Given the description of an element on the screen output the (x, y) to click on. 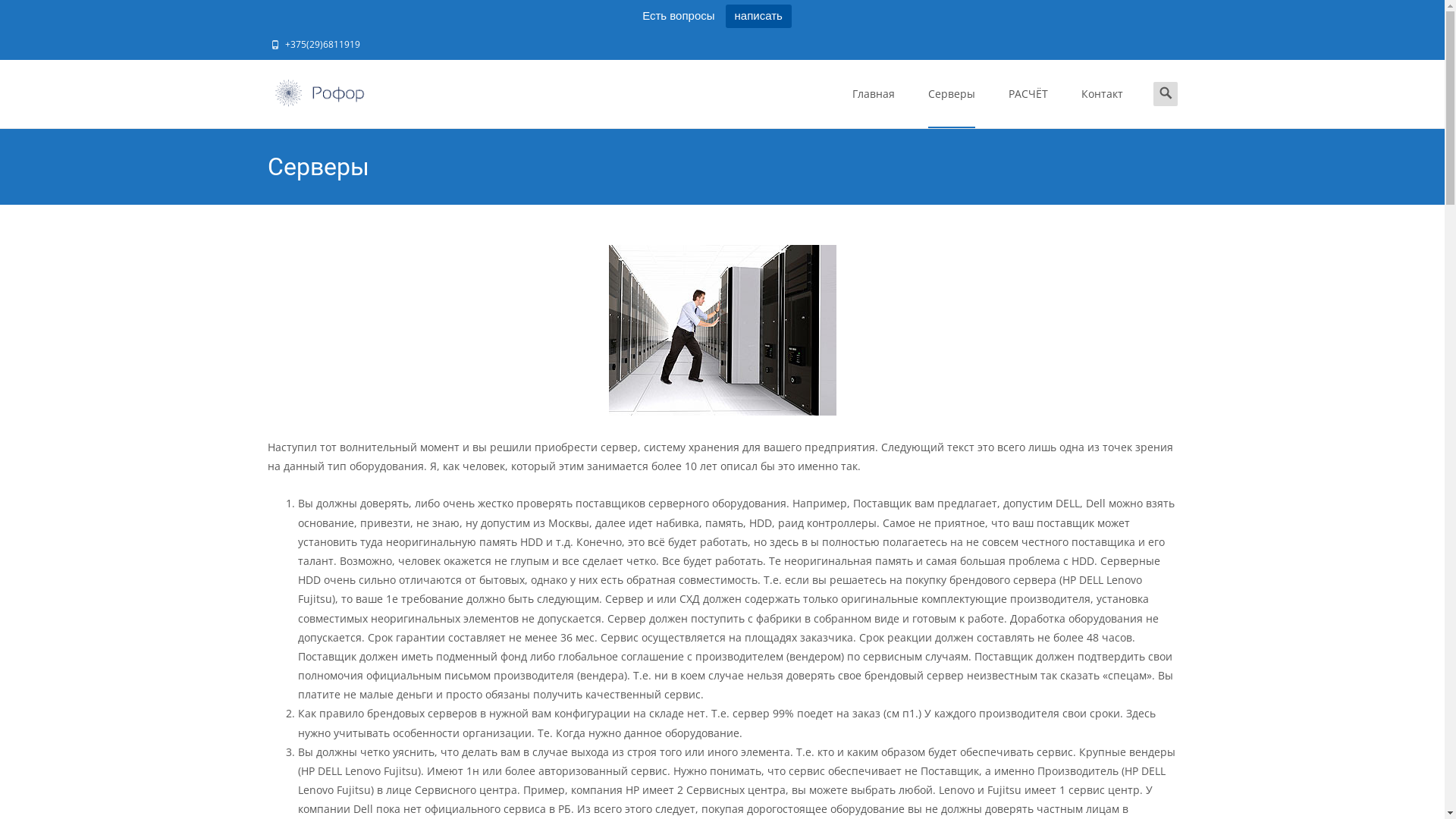
Skip to content Element type: text (835, 59)
rofor Element type: hover (307, 89)
Search Element type: text (18, 15)
Search for: Element type: hover (1164, 93)
+375(29)6811919 Element type: text (322, 43)
